Given the description of an element on the screen output the (x, y) to click on. 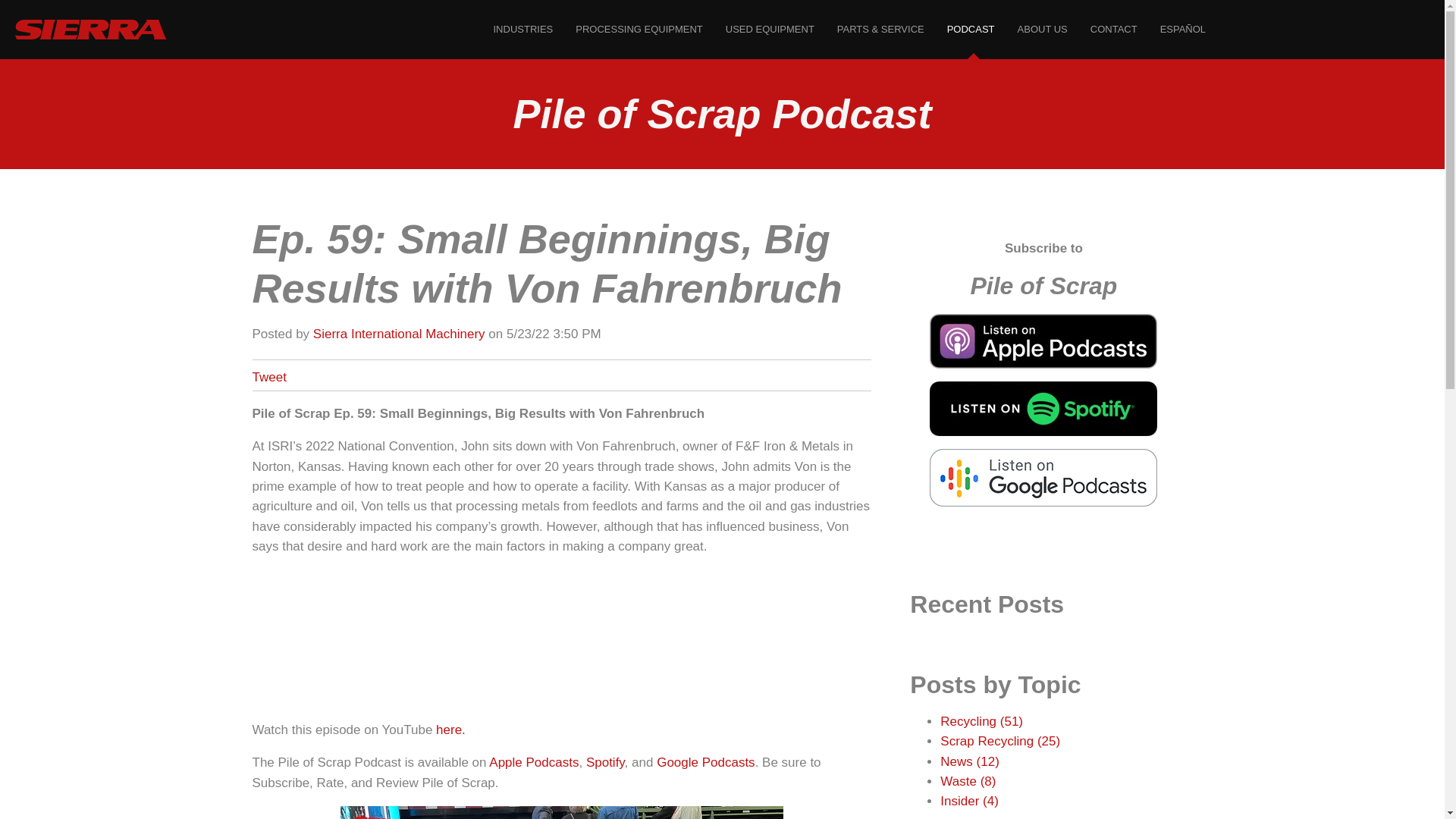
USED EQUIPMENT (769, 29)
INDUSTRIES (522, 29)
CONTACT (1113, 29)
PROCESSING EQUIPMENT (639, 29)
PODCAST (971, 29)
ABOUT US (1042, 29)
